Given the description of an element on the screen output the (x, y) to click on. 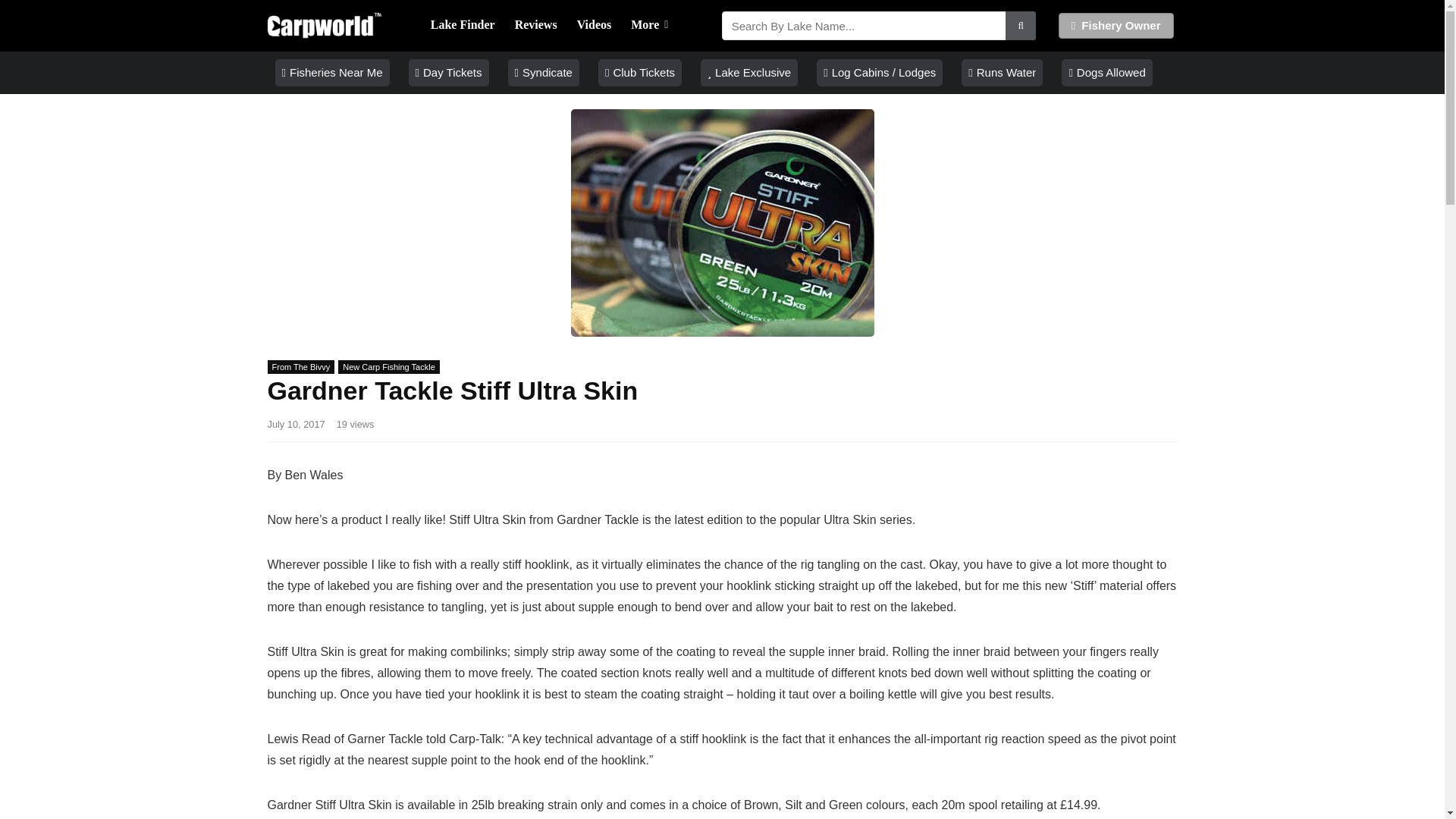
Videos (594, 25)
Dogs Allowed (1106, 72)
Day Tickets (449, 72)
Runs Water (1001, 72)
Fishery Finder (462, 25)
Fisheries Near Me (331, 72)
Carp Fishing Tackle Reviews (536, 25)
Lake Exclusive (748, 72)
Syndicate (543, 72)
Carp Fishing Videos (594, 25)
